Given the description of an element on the screen output the (x, y) to click on. 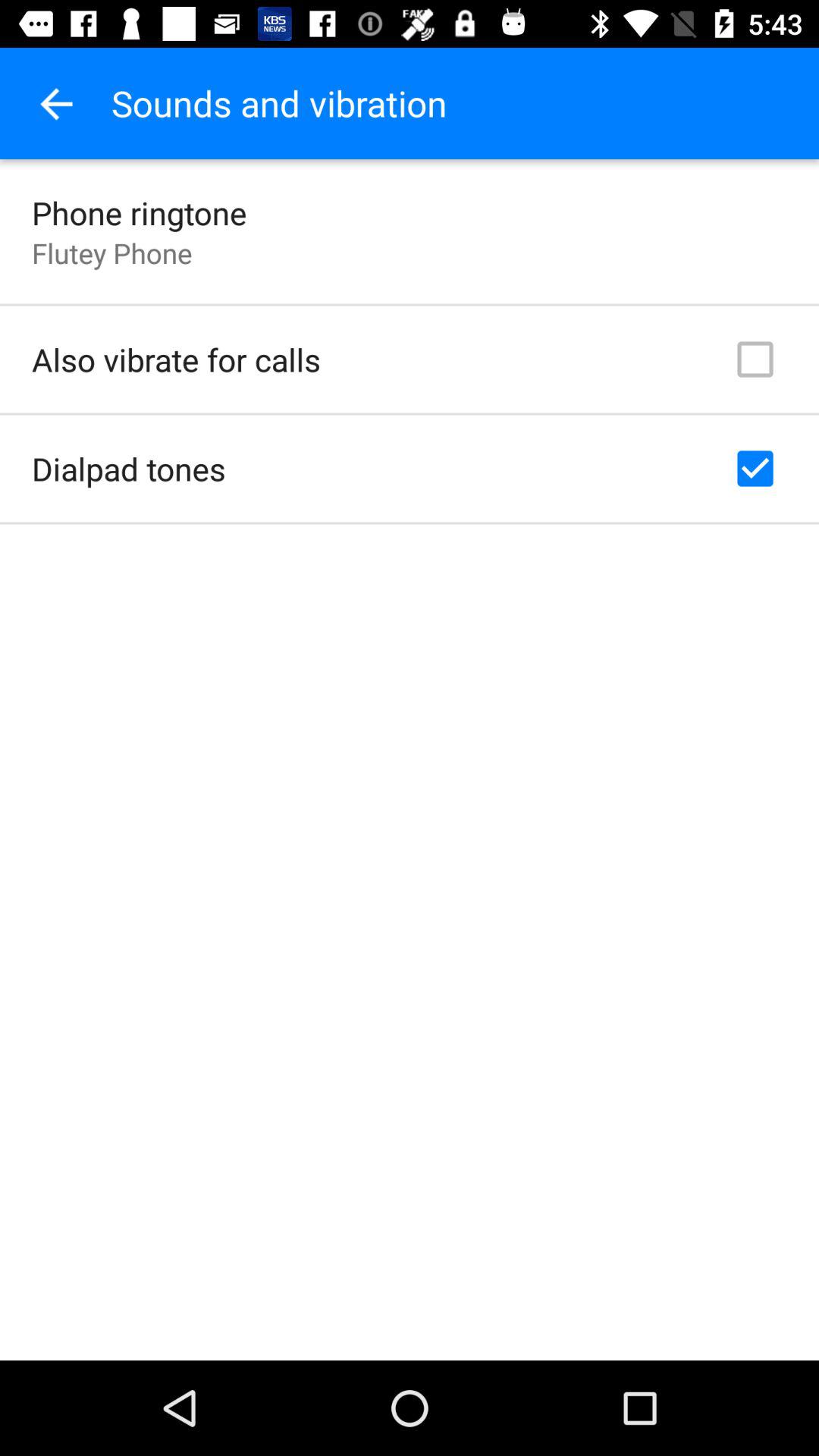
turn on the item above phone ringtone item (55, 103)
